Given the description of an element on the screen output the (x, y) to click on. 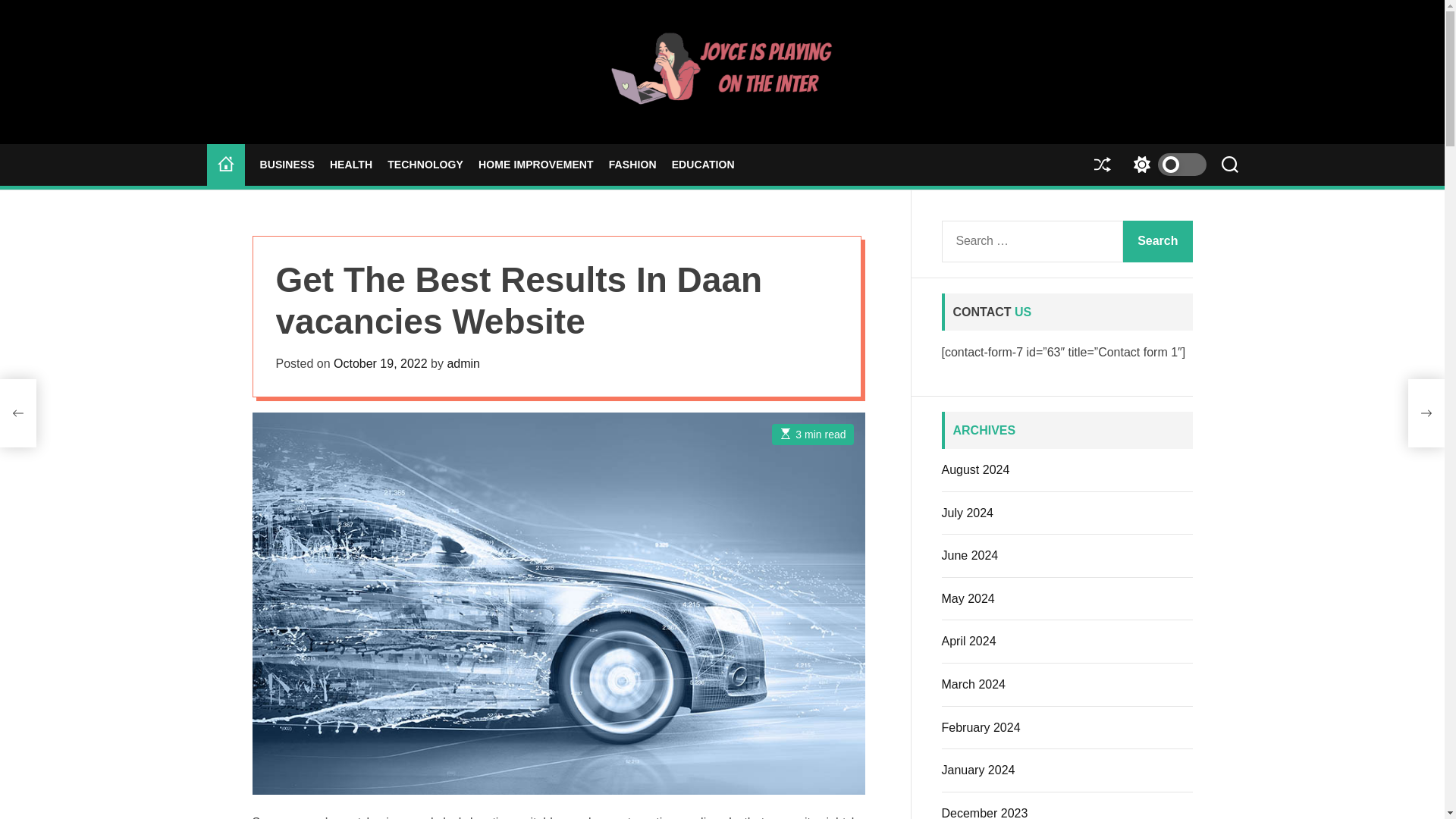
FASHION (632, 164)
HEALTH (351, 164)
Search (1157, 241)
EDUCATION (703, 164)
admin (463, 363)
October 19, 2022 (380, 363)
Switch color mode (1165, 164)
BUSINESS (286, 164)
HOME IMPROVEMENT (536, 164)
Search (1157, 241)
